Given the description of an element on the screen output the (x, y) to click on. 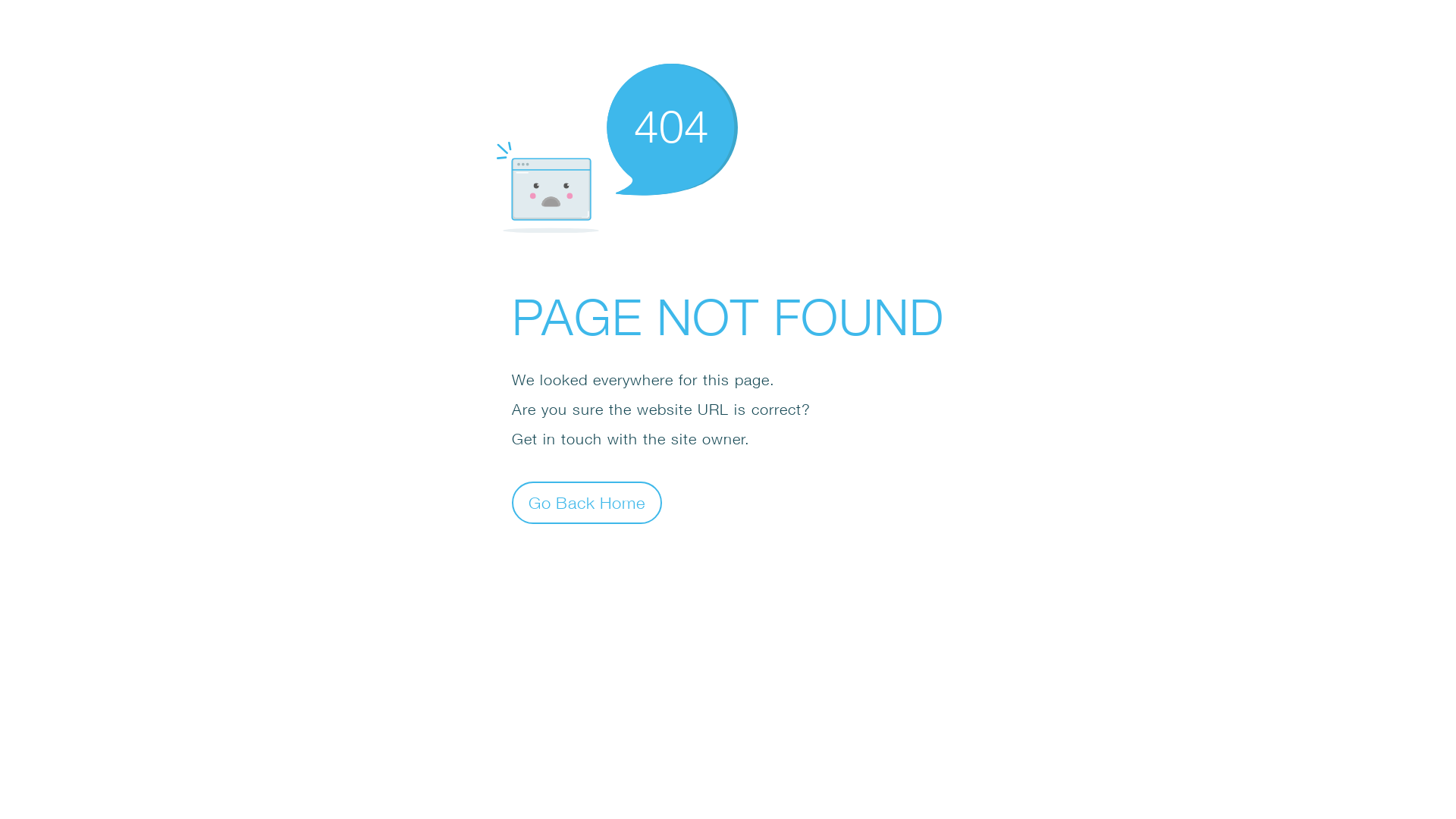
Go Back Home Element type: text (586, 502)
